Given the description of an element on the screen output the (x, y) to click on. 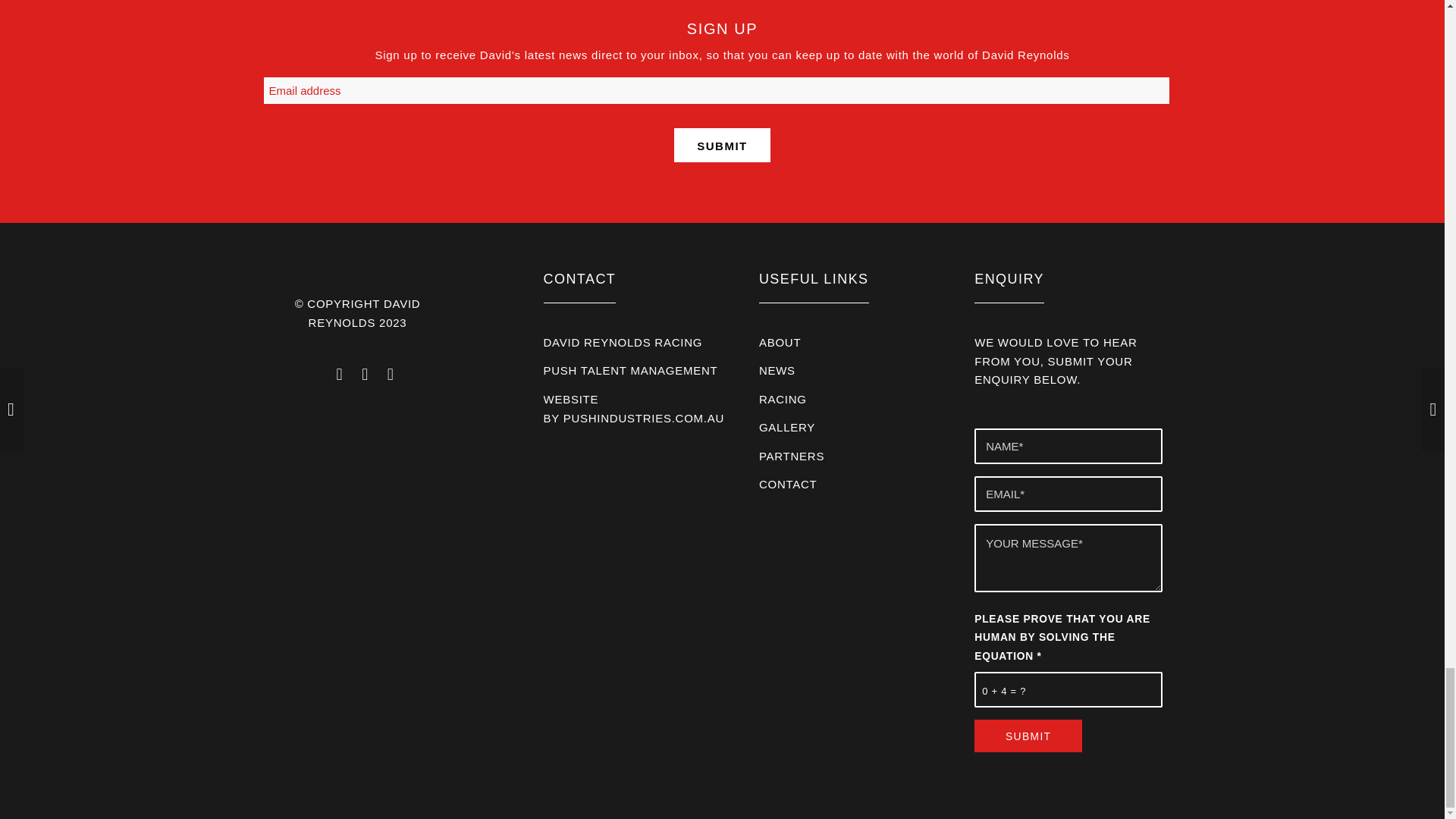
Submit (722, 144)
Submit (1027, 735)
